Given the description of an element on the screen output the (x, y) to click on. 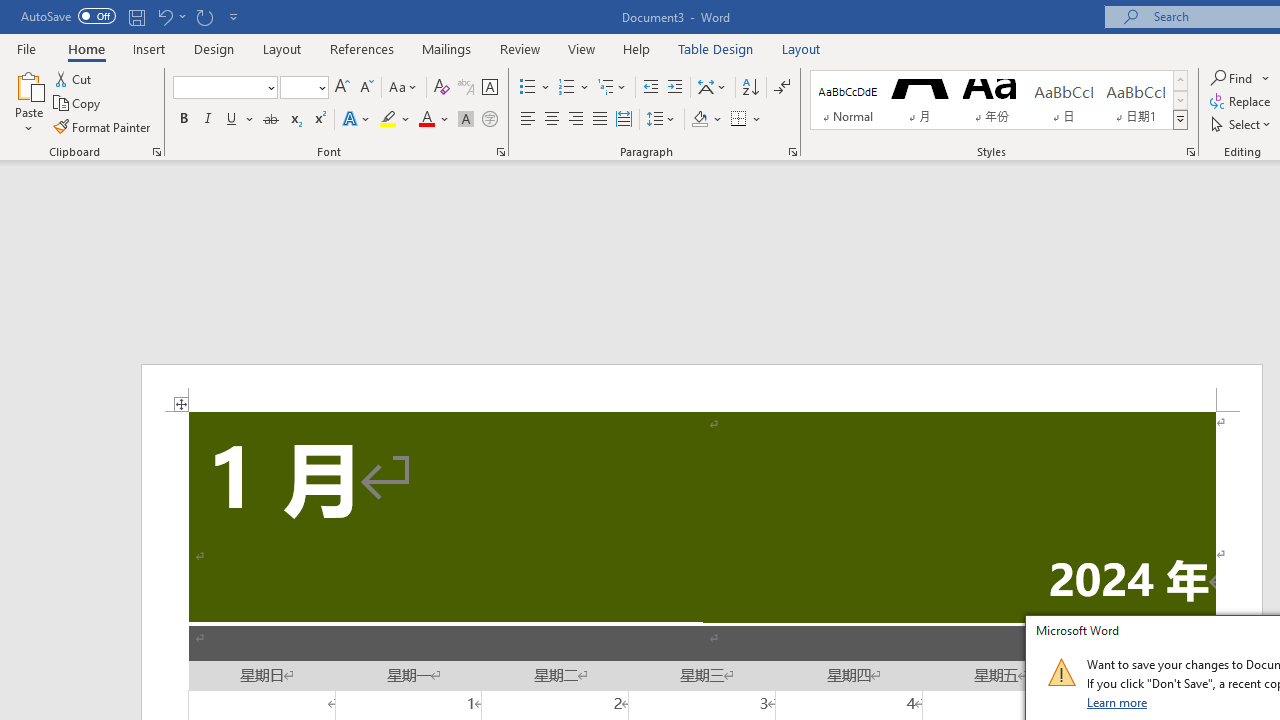
Repeat Style (204, 15)
Learn more (1118, 702)
